Given the description of an element on the screen output the (x, y) to click on. 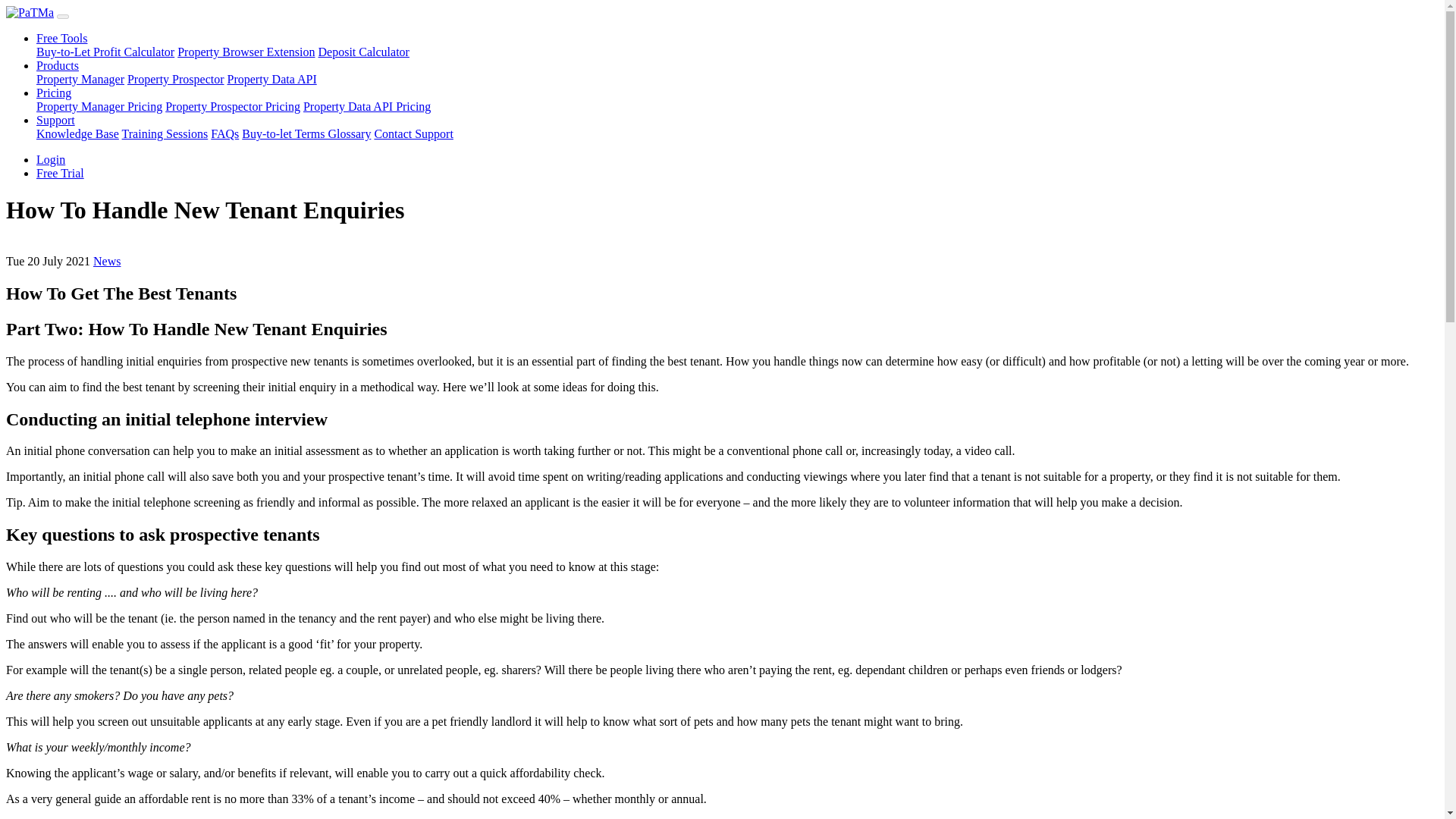
Knowledge Base (77, 133)
Login (50, 159)
Property Browser Extension (245, 51)
Training Sessions (165, 133)
News (106, 260)
Property Manager (79, 78)
Property Data API Pricing (366, 106)
Pricing (53, 92)
Contact Support (413, 133)
FAQs (224, 133)
